Given the description of an element on the screen output the (x, y) to click on. 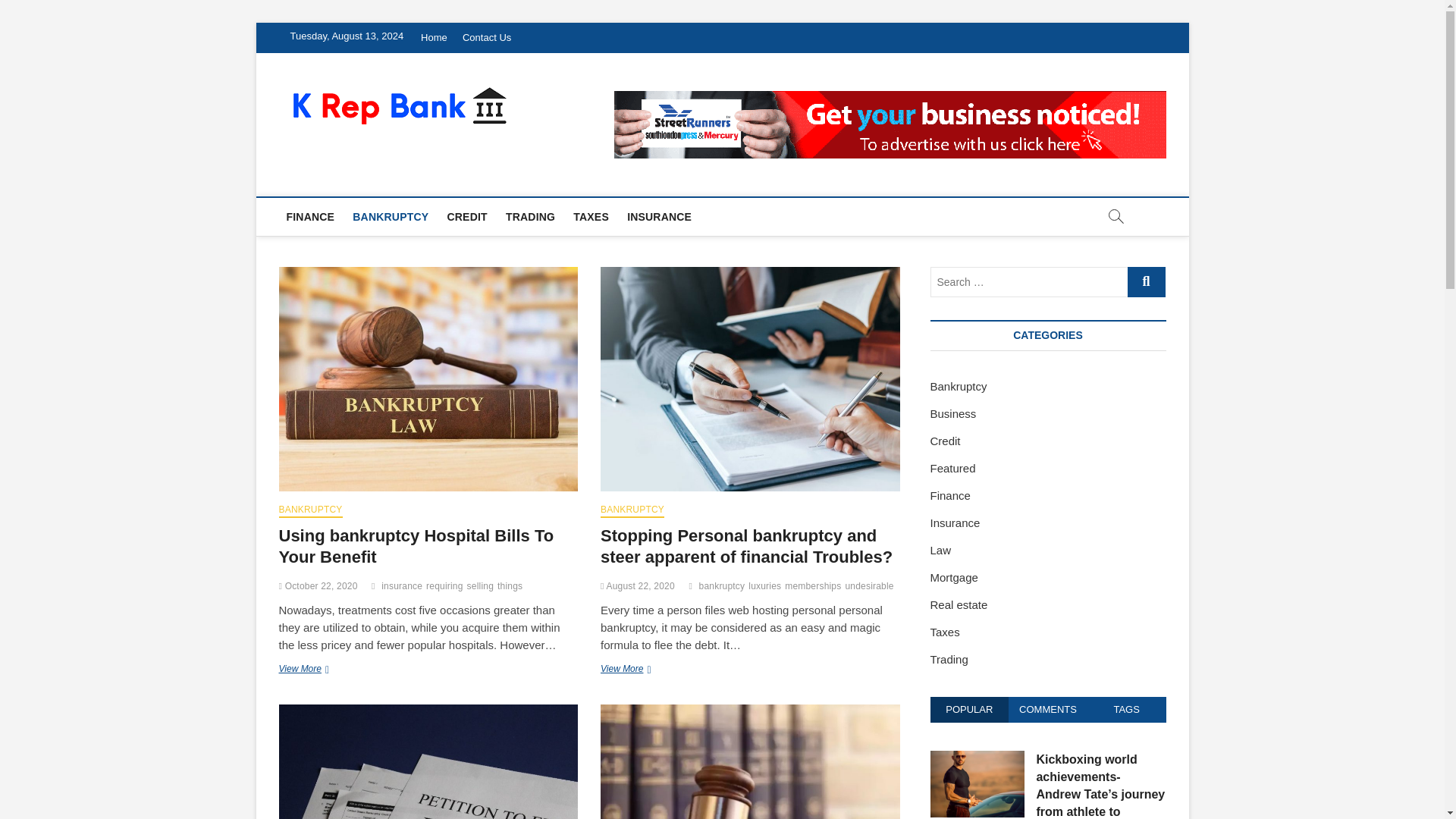
luxuries (766, 587)
BANKRUPTCY (310, 510)
K Rep Bank (586, 103)
August 22, 2020 (637, 585)
TRADING (529, 216)
BANKRUPTCY (631, 510)
BANKRUPTCY (390, 216)
CREDIT (467, 216)
K Rep Bank (586, 103)
